Given the description of an element on the screen output the (x, y) to click on. 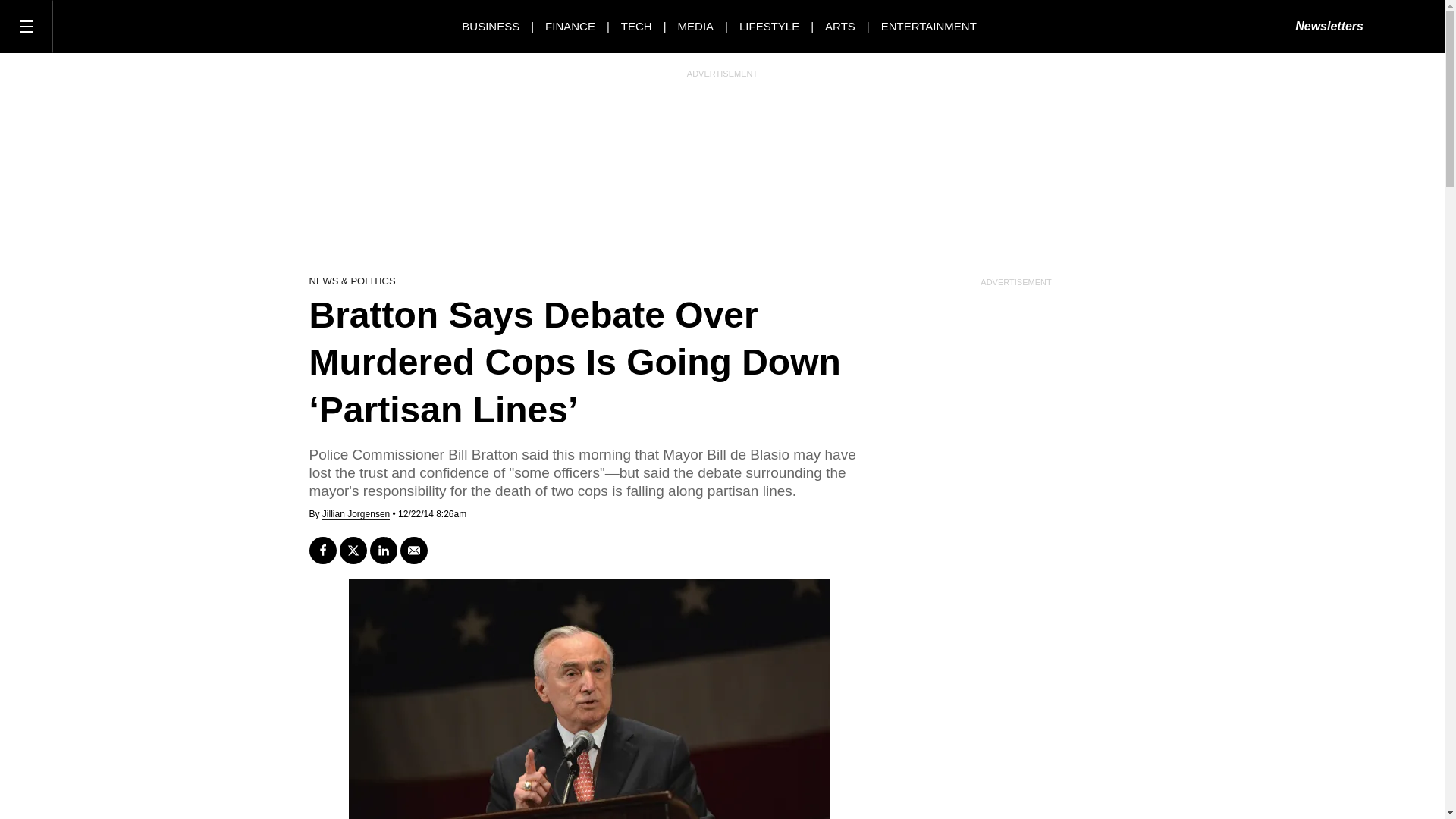
View All Posts by Jillian Jorgensen (355, 514)
ENTERTAINMENT (928, 25)
Newsletters (1329, 26)
BUSINESS (490, 25)
LIFESTYLE (769, 25)
MEDIA (696, 25)
ARTS (840, 25)
FINANCE (569, 25)
Share on Facebook (322, 550)
Observer (121, 26)
